Given the description of an element on the screen output the (x, y) to click on. 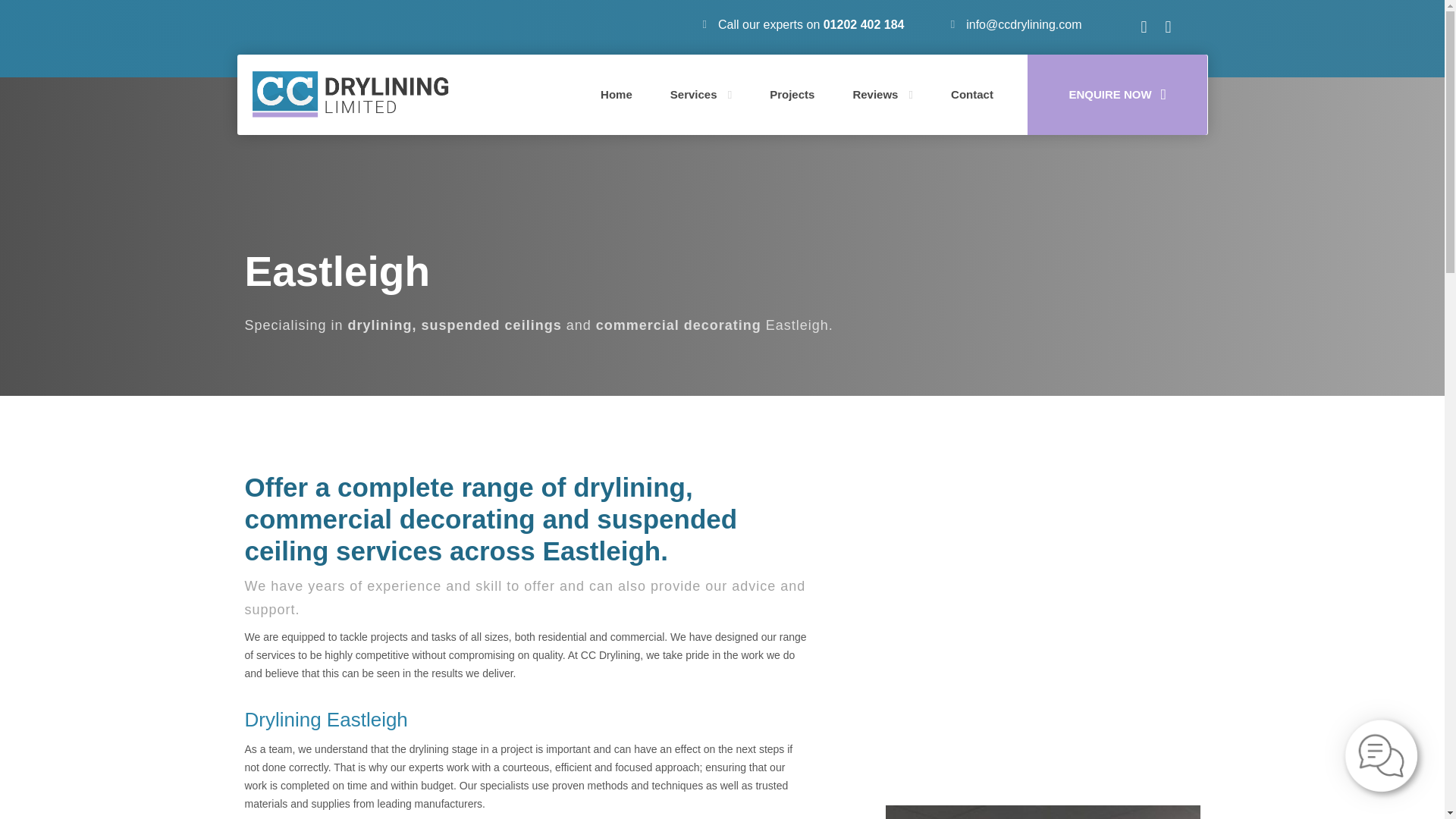
cc-drylining (349, 94)
Reviews (881, 94)
Services (700, 94)
Projects (791, 94)
Contact (971, 94)
tape-and-jointing15 (1042, 812)
ENQUIRE NOW (1117, 94)
